Given the description of an element on the screen output the (x, y) to click on. 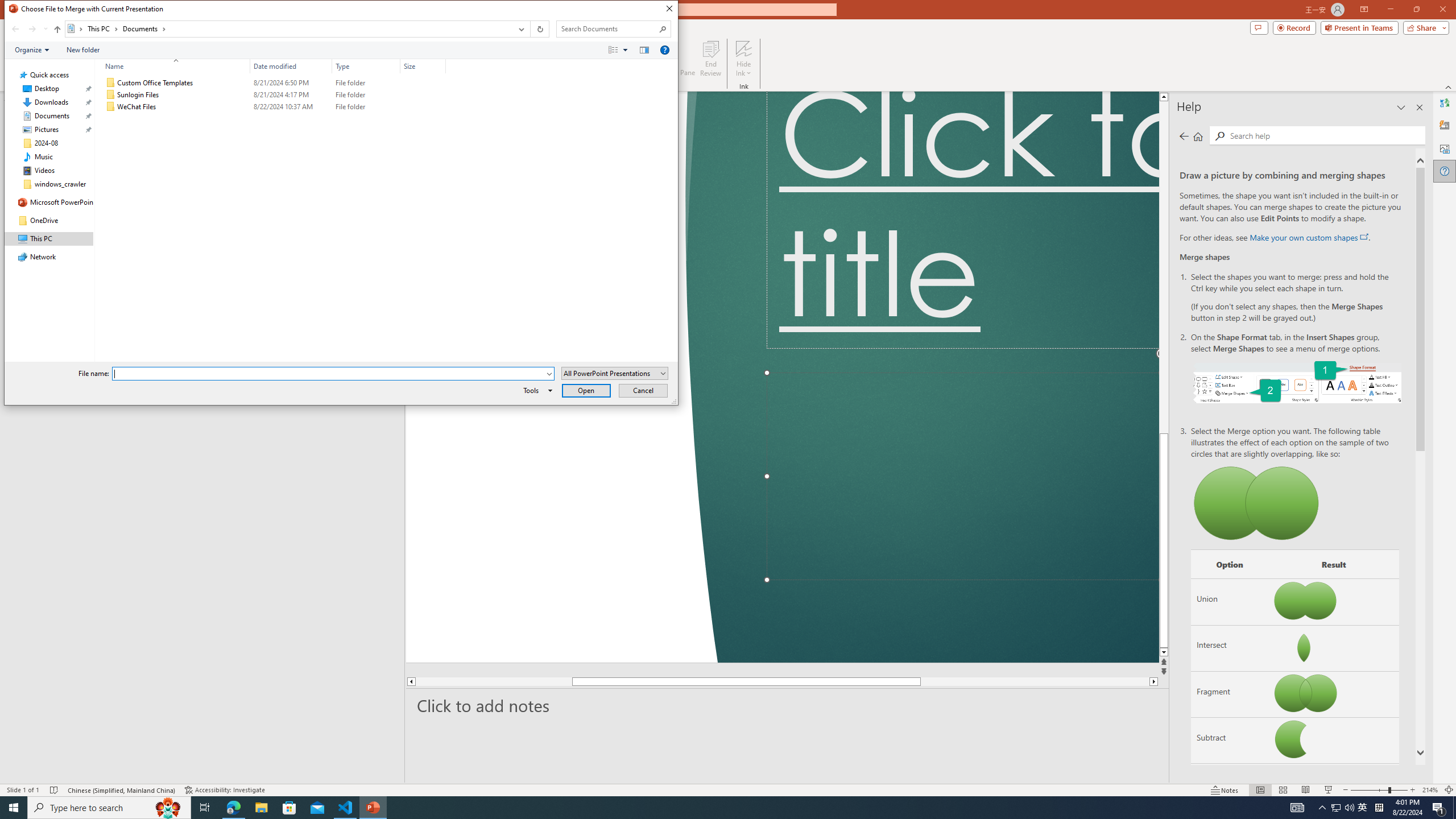
WeChat Files (273, 106)
Address: Documents (288, 28)
File name: (333, 373)
Previous Locations (520, 28)
Fragment (1229, 693)
Combine (1229, 786)
